Given the description of an element on the screen output the (x, y) to click on. 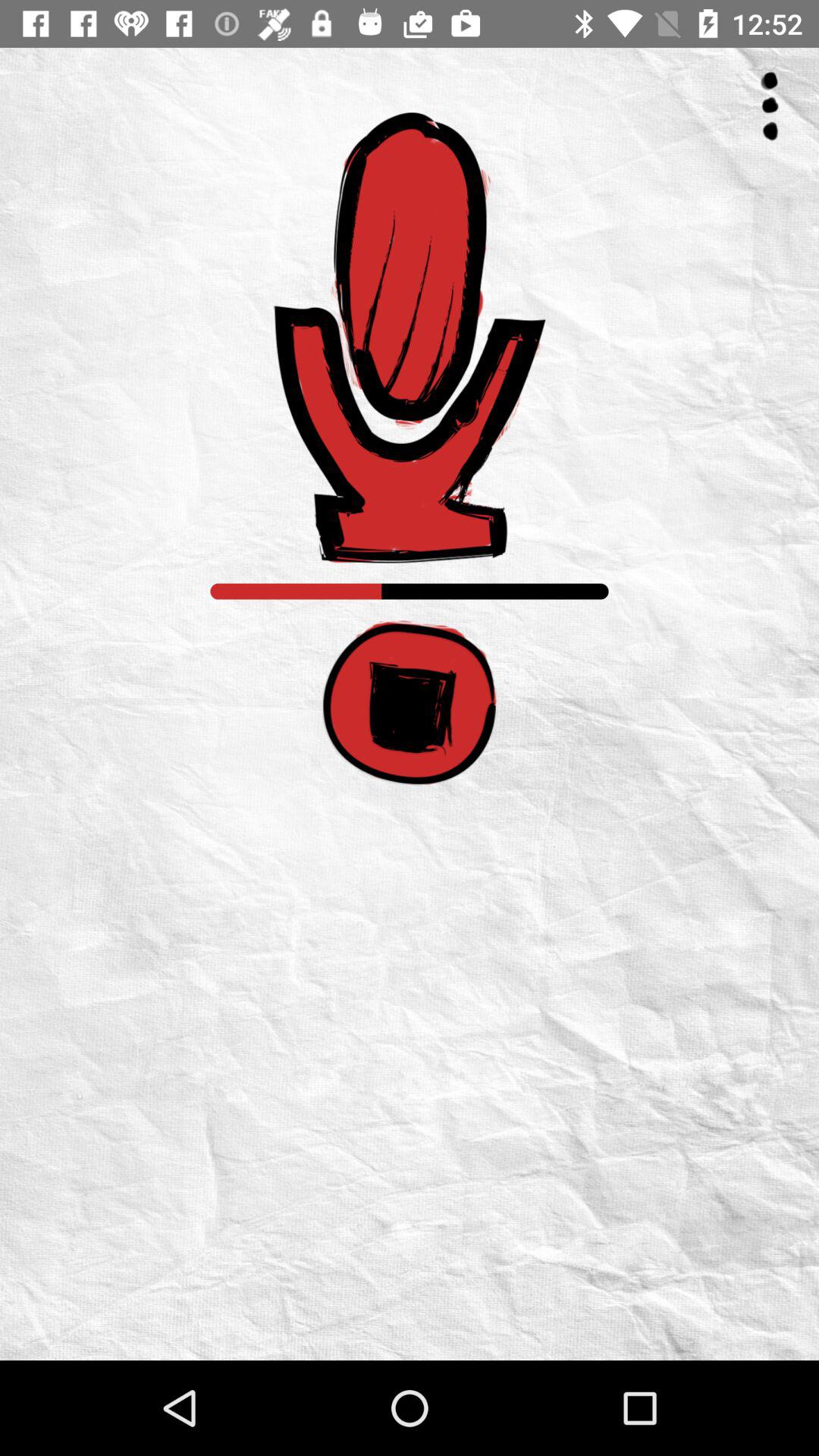
record (409, 337)
